Given the description of an element on the screen output the (x, y) to click on. 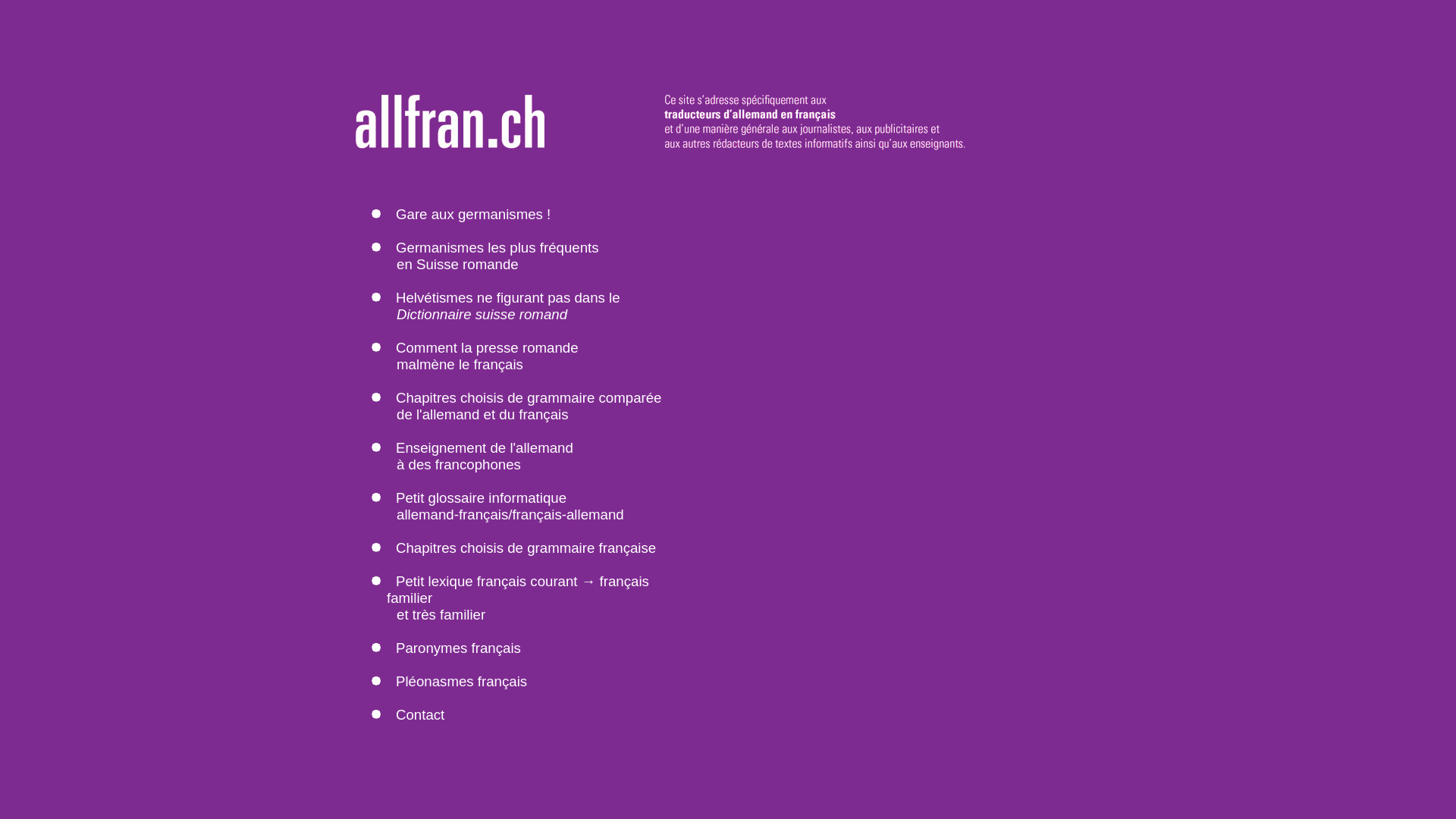
Gare aux germanismes ! Element type: text (472, 214)
Contact Element type: text (419, 714)
